Given the description of an element on the screen output the (x, y) to click on. 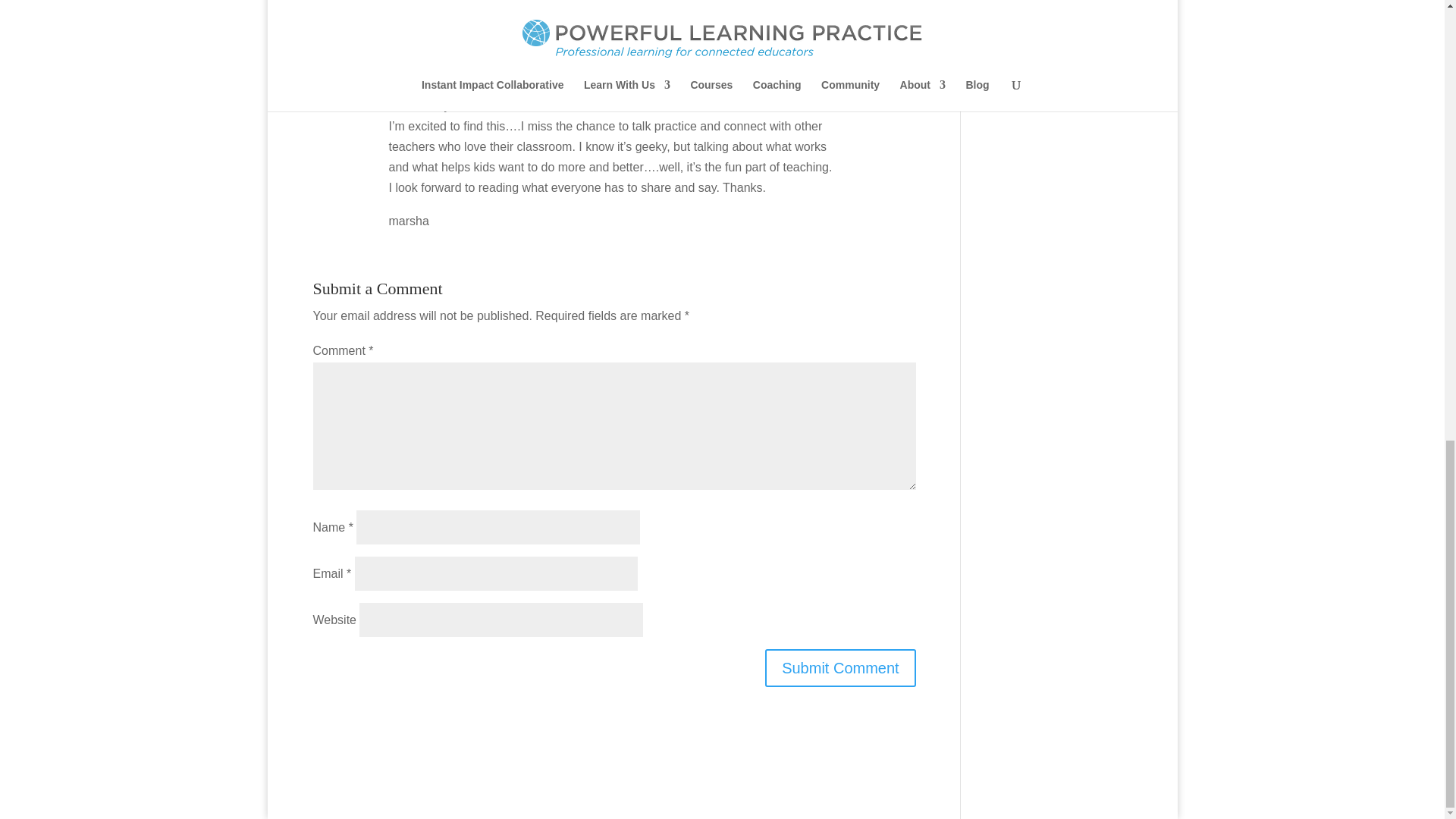
Submit Comment (840, 668)
